Given the description of an element on the screen output the (x, y) to click on. 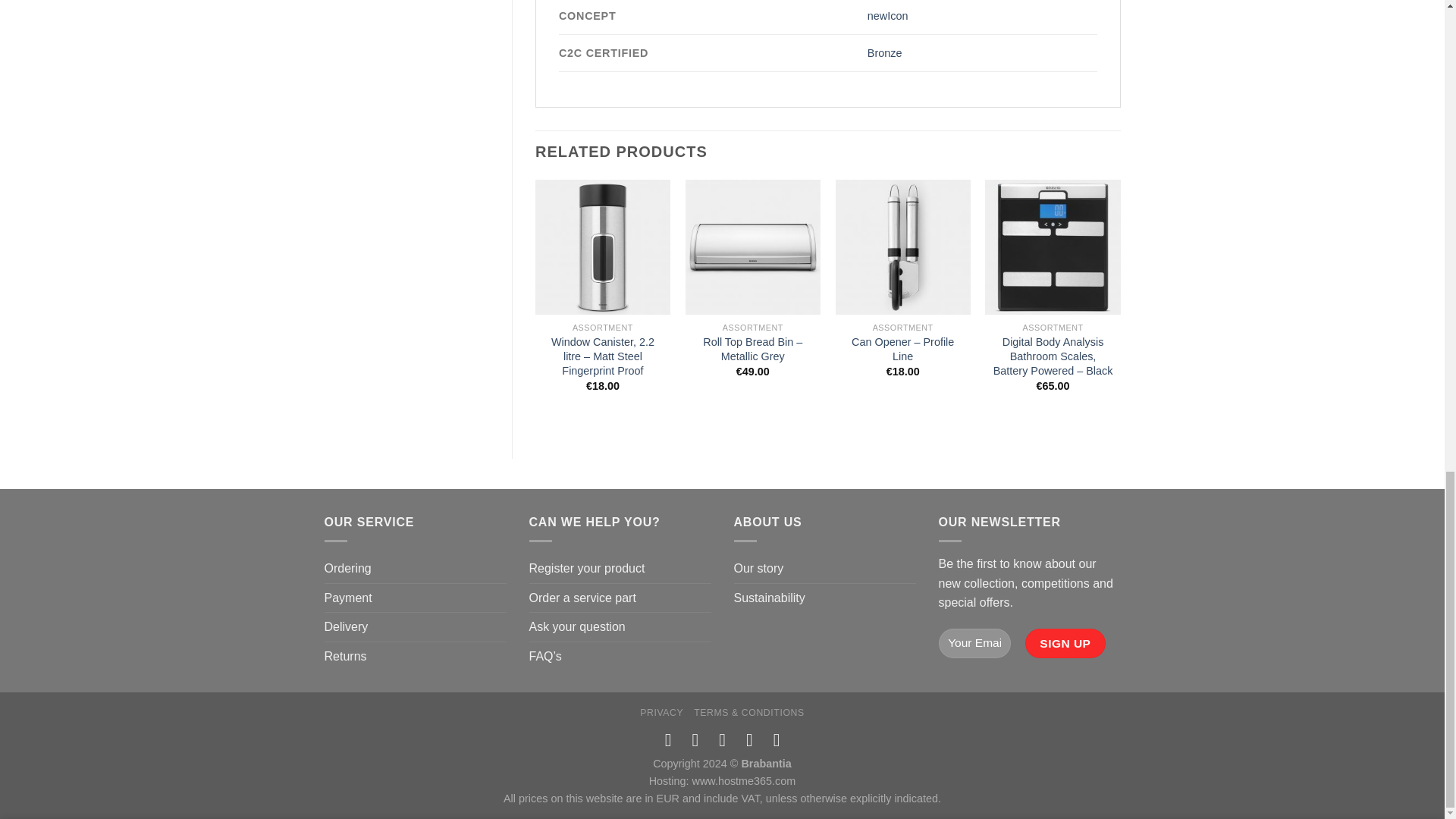
Sign Up (1065, 643)
